Given the description of an element on the screen output the (x, y) to click on. 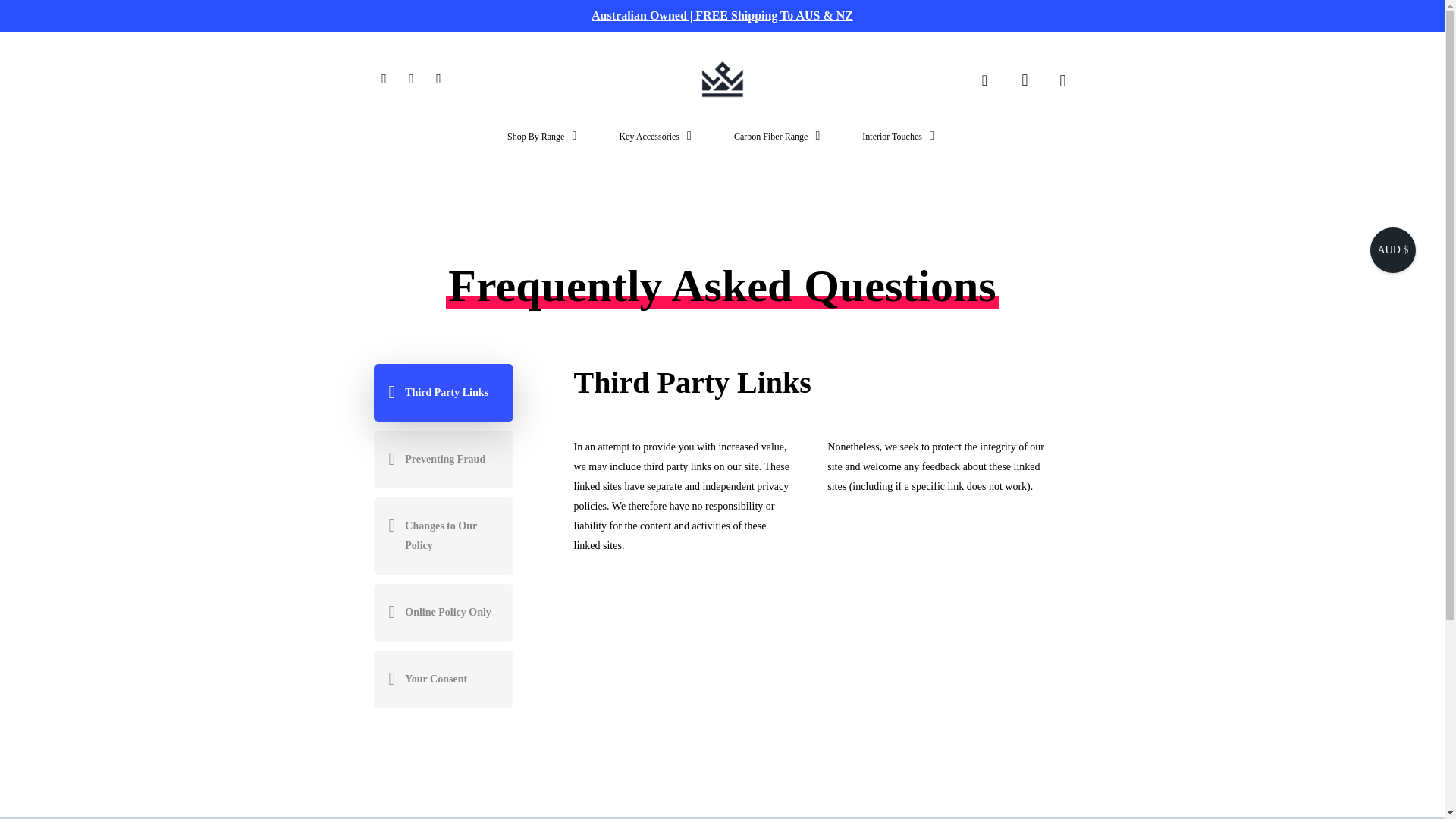
Changes to Our Policy (442, 535)
Carbon Fiber Range (777, 149)
Key Accessories (656, 149)
Third Party Links (442, 392)
Interior Touches (899, 149)
Preventing Fraud (442, 459)
Online Policy Only (442, 612)
Shop By Range (542, 149)
